Given the description of an element on the screen output the (x, y) to click on. 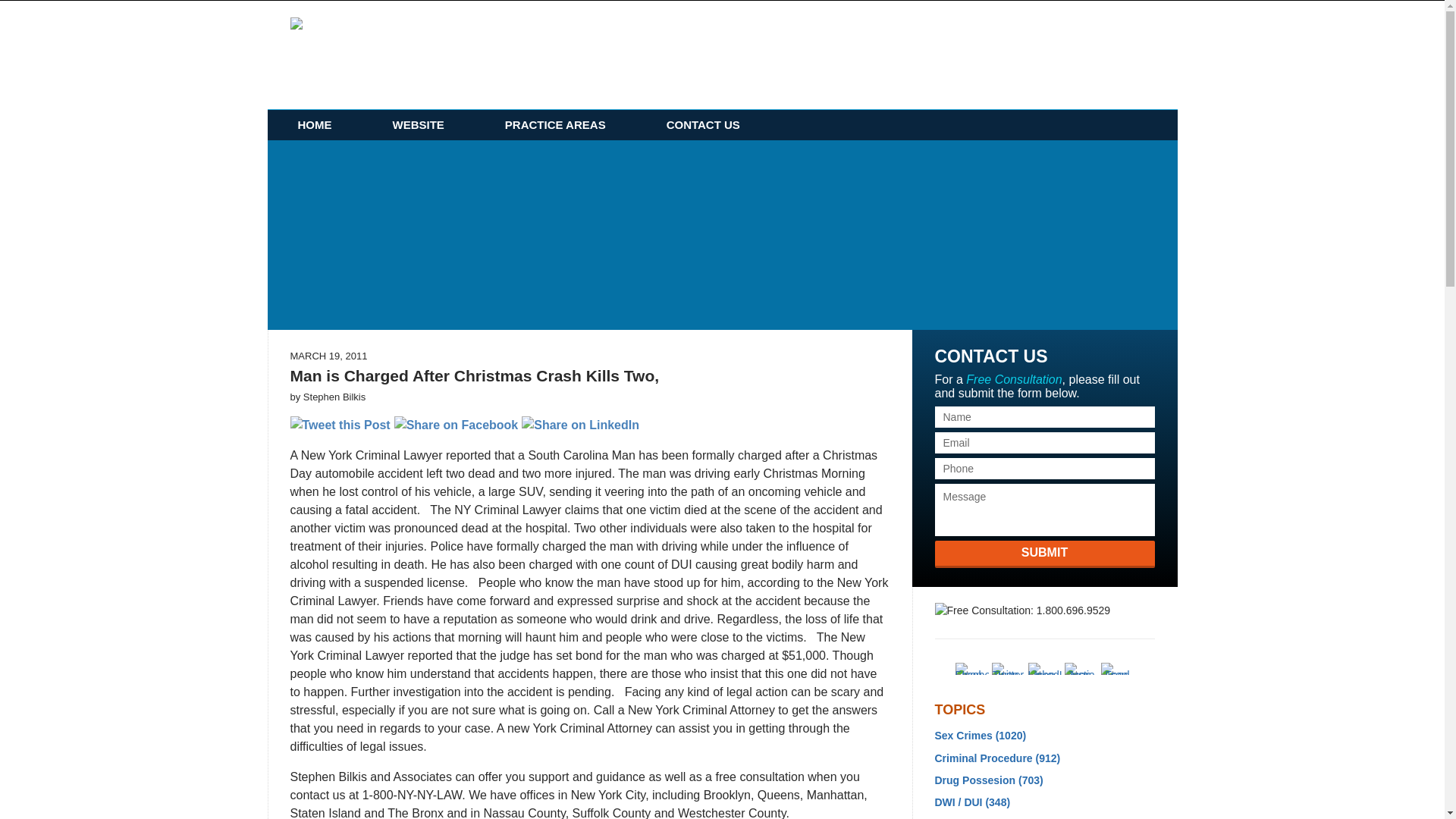
HOME (313, 124)
Justia (1080, 668)
LinkedIn (1044, 668)
PRACTICE AREAS (555, 124)
WEBSITE (418, 124)
CONTACT US (703, 124)
Feed (1117, 668)
New York Criminal Lawyer Blog (399, 54)
Facebook (971, 668)
Twitter (1008, 668)
